Given the description of an element on the screen output the (x, y) to click on. 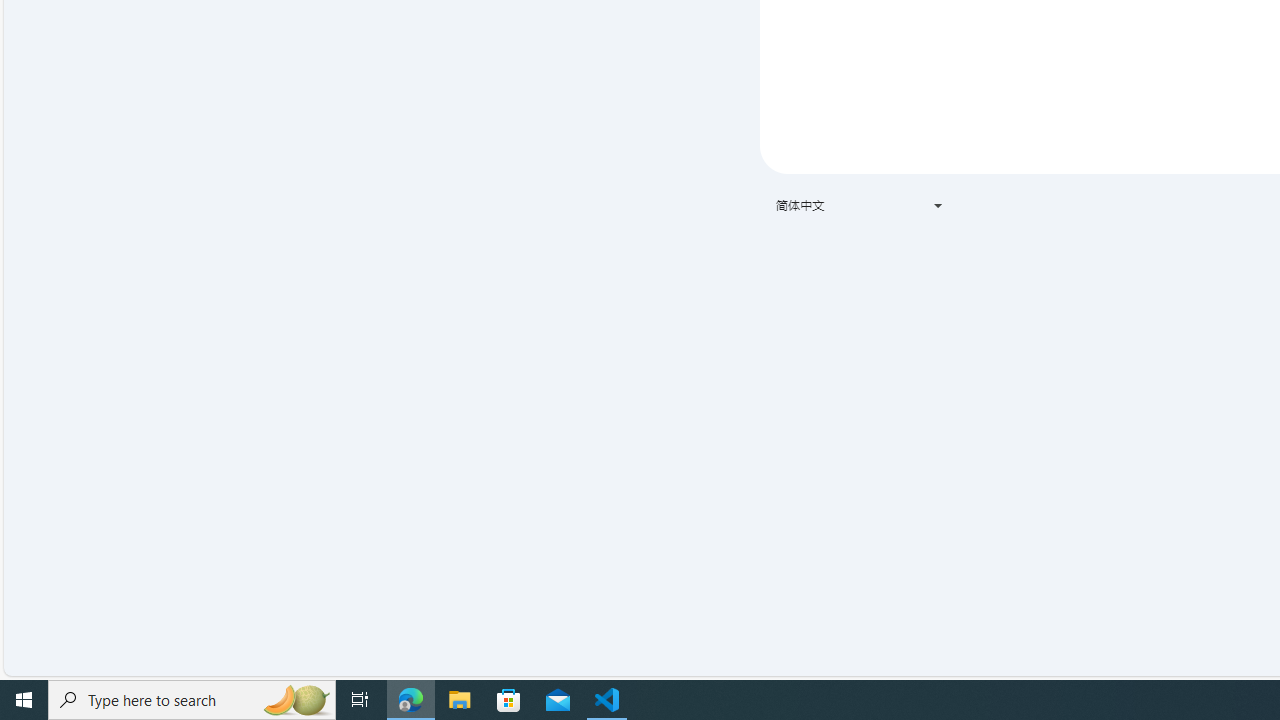
Class: VfPpkd-t08AT-Bz112c-Bd00G (938, 205)
